Given the description of an element on the screen output the (x, y) to click on. 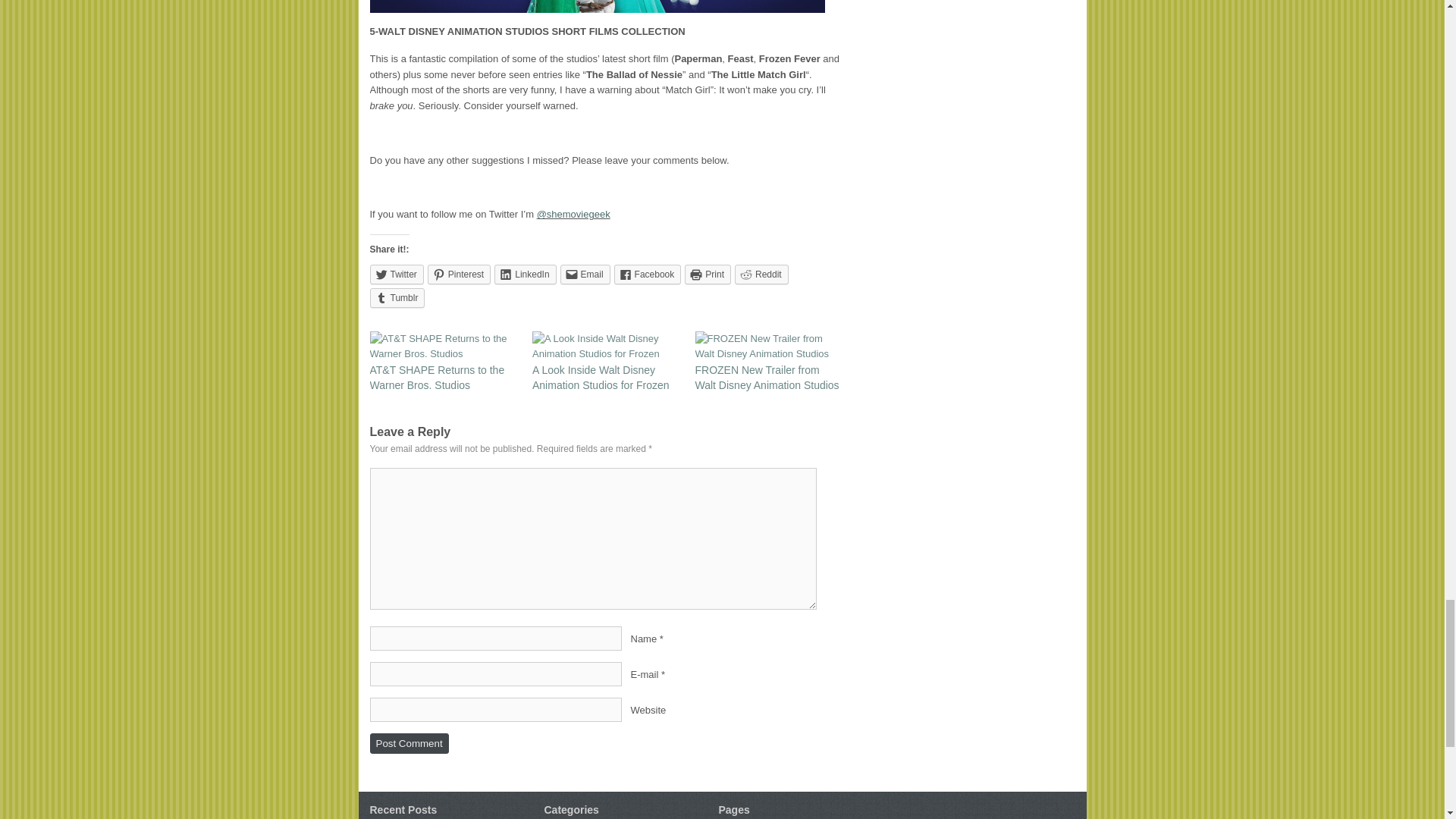
Click to share on Facebook (647, 274)
Pinterest (459, 274)
LinkedIn (525, 274)
Click to print (707, 274)
Click to share on Tumblr (397, 297)
Tumblr (397, 297)
Twitter (396, 274)
Click to share on Pinterest (459, 274)
Email (585, 274)
Print (707, 274)
